Given the description of an element on the screen output the (x, y) to click on. 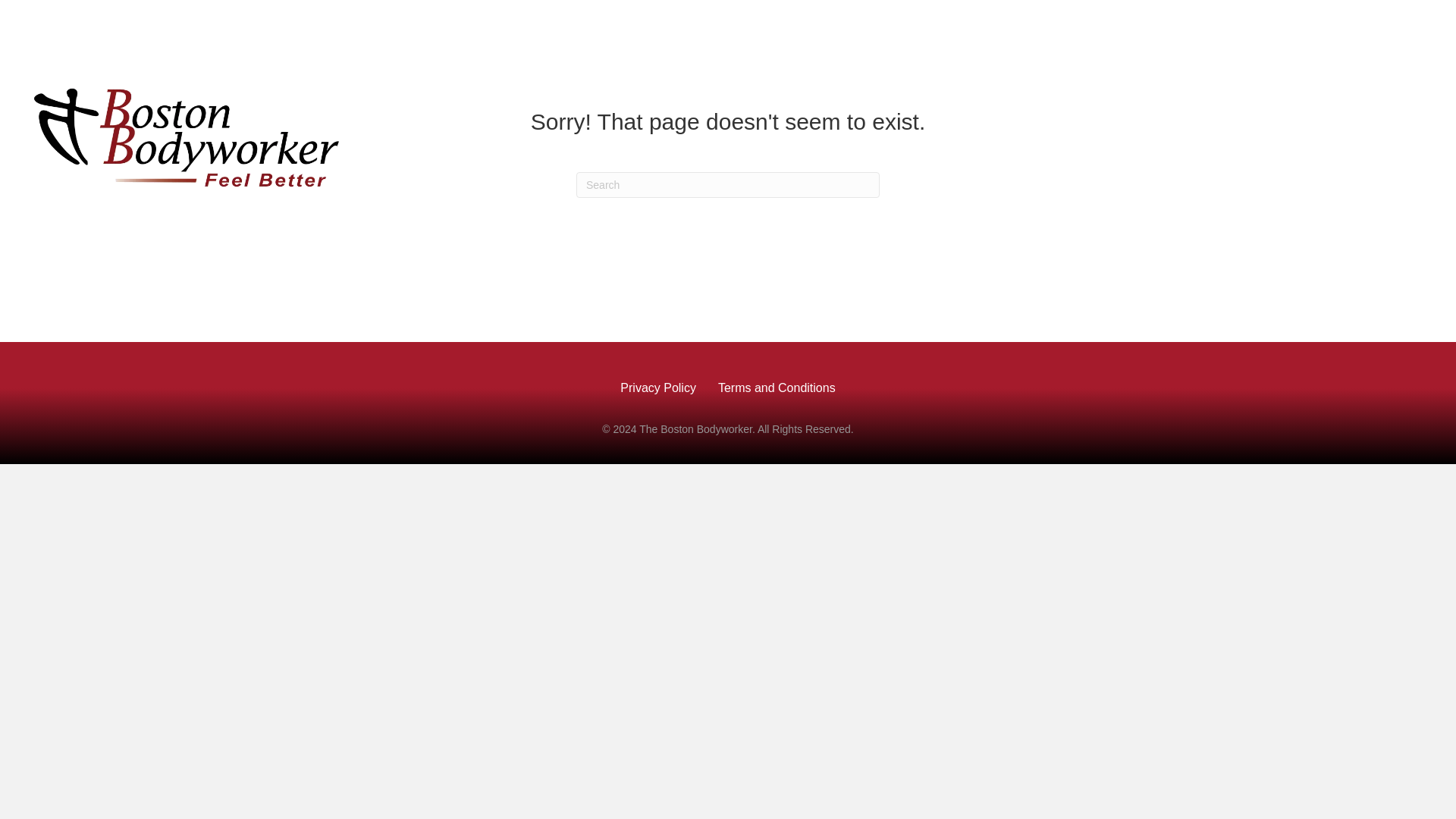
uncroppedBBW-logo-white-outline-1-768x263 (186, 134)
Terms and Conditions (776, 388)
Privacy Policy (658, 388)
Type and press Enter to search. (727, 184)
